Given the description of an element on the screen output the (x, y) to click on. 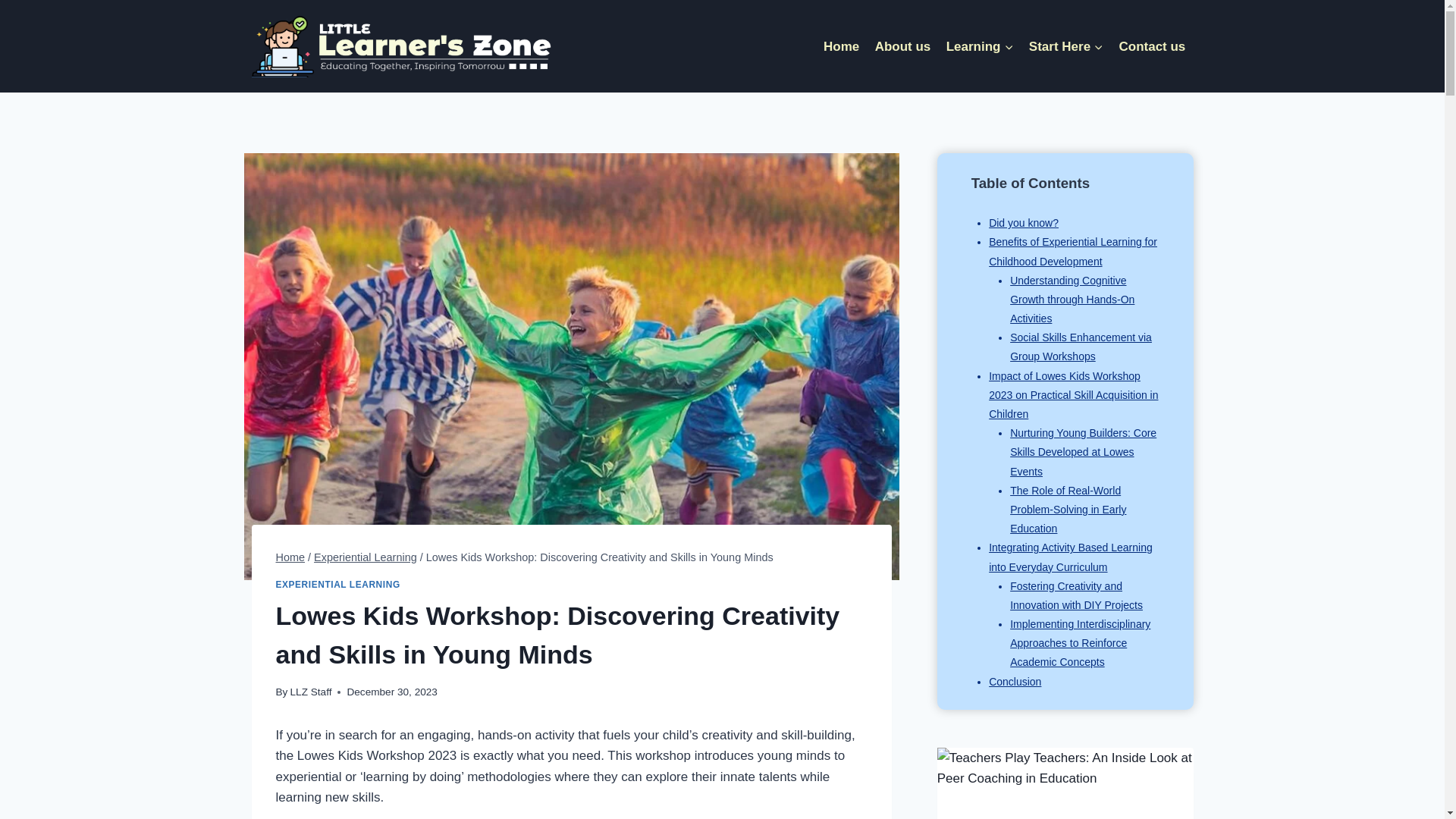
Home (290, 557)
EXPERIENTIAL LEARNING (338, 584)
Experiential Learning (365, 557)
Start Here (1067, 46)
LLZ Staff (310, 691)
Learning (978, 46)
